Given the description of an element on the screen output the (x, y) to click on. 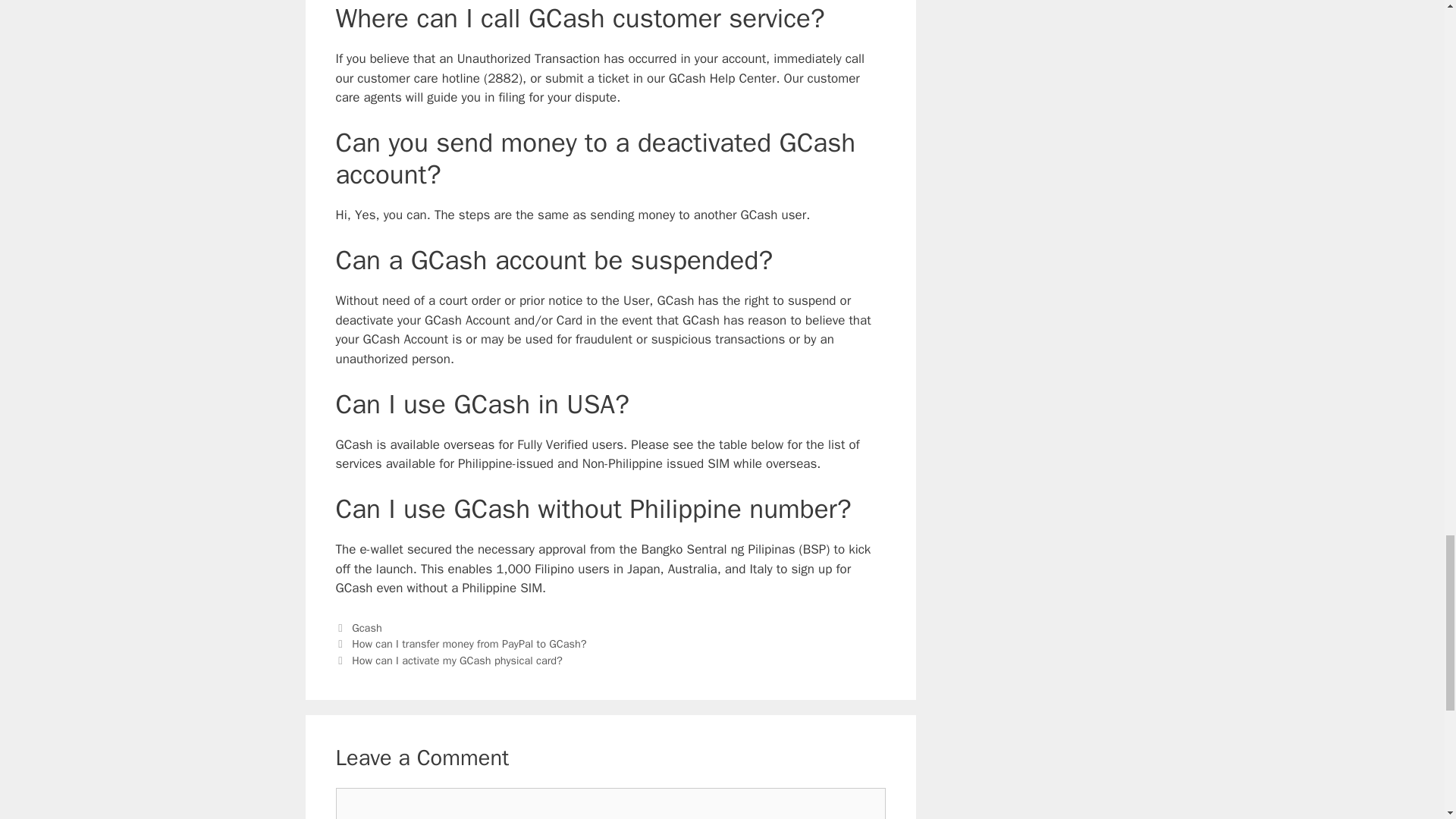
How can I activate my GCash physical card? (457, 660)
Gcash (366, 627)
How can I transfer money from PayPal to GCash? (469, 643)
